Given the description of an element on the screen output the (x, y) to click on. 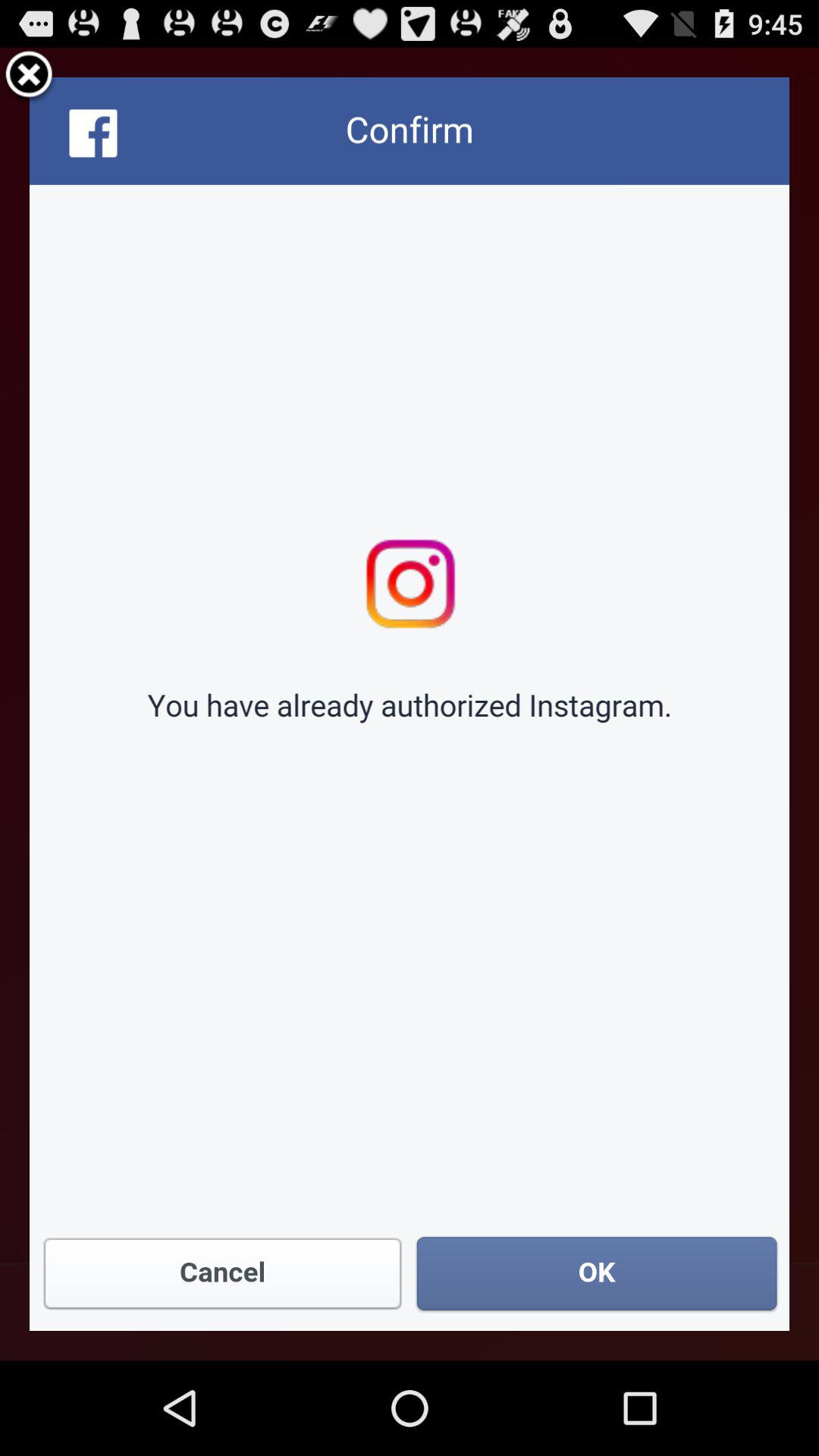
close app (29, 76)
